Given the description of an element on the screen output the (x, y) to click on. 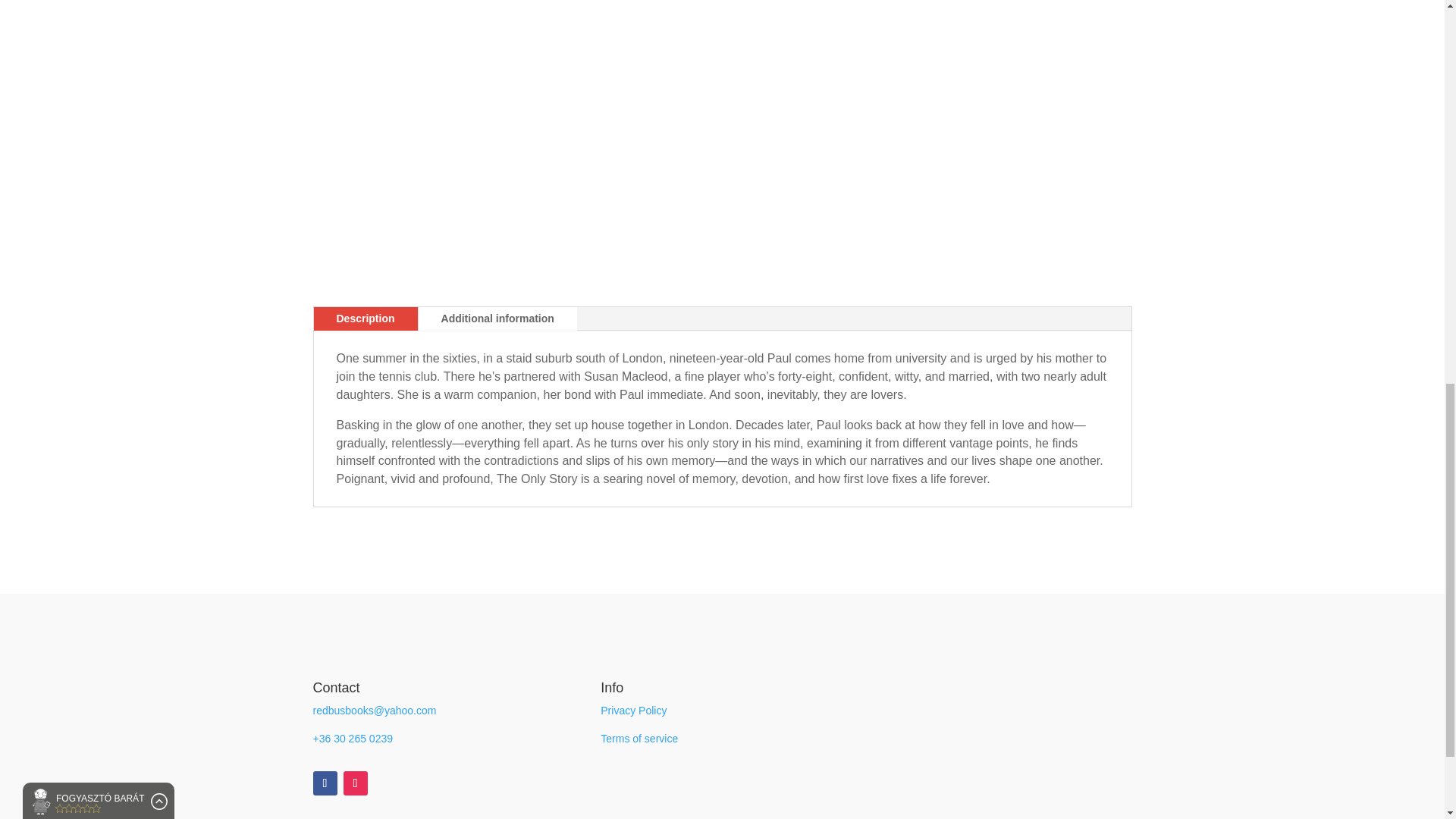
Privacy Policy (632, 710)
Follow on Instagram (354, 783)
Additional information (497, 319)
Terms of service (638, 738)
Follow on Facebook (324, 783)
Description (365, 319)
